Given the description of an element on the screen output the (x, y) to click on. 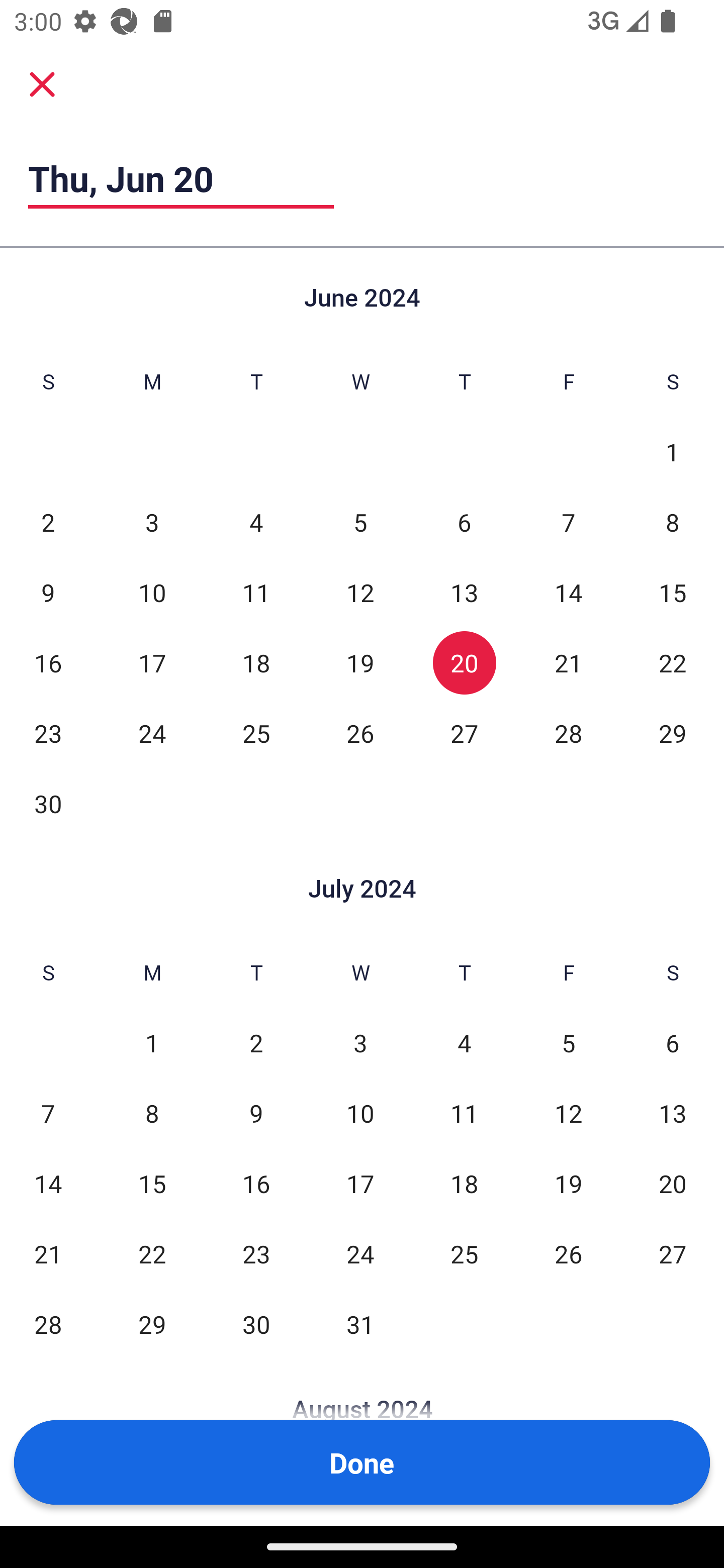
Cancel (41, 83)
Thu, Jun 20 (180, 178)
1 Sat, Jun 1, Not Selected (672, 452)
2 Sun, Jun 2, Not Selected (48, 521)
3 Mon, Jun 3, Not Selected (152, 521)
4 Tue, Jun 4, Not Selected (256, 521)
5 Wed, Jun 5, Not Selected (360, 521)
6 Thu, Jun 6, Not Selected (464, 521)
7 Fri, Jun 7, Not Selected (568, 521)
8 Sat, Jun 8, Not Selected (672, 521)
9 Sun, Jun 9, Not Selected (48, 591)
10 Mon, Jun 10, Not Selected (152, 591)
11 Tue, Jun 11, Not Selected (256, 591)
12 Wed, Jun 12, Not Selected (360, 591)
13 Thu, Jun 13, Not Selected (464, 591)
14 Fri, Jun 14, Not Selected (568, 591)
15 Sat, Jun 15, Not Selected (672, 591)
16 Sun, Jun 16, Not Selected (48, 662)
17 Mon, Jun 17, Not Selected (152, 662)
18 Tue, Jun 18, Not Selected (256, 662)
19 Wed, Jun 19, Not Selected (360, 662)
20 Thu, Jun 20, Selected (464, 662)
21 Fri, Jun 21, Not Selected (568, 662)
22 Sat, Jun 22, Not Selected (672, 662)
23 Sun, Jun 23, Not Selected (48, 732)
24 Mon, Jun 24, Not Selected (152, 732)
25 Tue, Jun 25, Not Selected (256, 732)
26 Wed, Jun 26, Not Selected (360, 732)
27 Thu, Jun 27, Not Selected (464, 732)
28 Fri, Jun 28, Not Selected (568, 732)
29 Sat, Jun 29, Not Selected (672, 732)
30 Sun, Jun 30, Not Selected (48, 803)
1 Mon, Jul 1, Not Selected (152, 1043)
2 Tue, Jul 2, Not Selected (256, 1043)
3 Wed, Jul 3, Not Selected (360, 1043)
4 Thu, Jul 4, Not Selected (464, 1043)
5 Fri, Jul 5, Not Selected (568, 1043)
6 Sat, Jul 6, Not Selected (672, 1043)
7 Sun, Jul 7, Not Selected (48, 1112)
8 Mon, Jul 8, Not Selected (152, 1112)
9 Tue, Jul 9, Not Selected (256, 1112)
10 Wed, Jul 10, Not Selected (360, 1112)
11 Thu, Jul 11, Not Selected (464, 1112)
12 Fri, Jul 12, Not Selected (568, 1112)
13 Sat, Jul 13, Not Selected (672, 1112)
14 Sun, Jul 14, Not Selected (48, 1182)
15 Mon, Jul 15, Not Selected (152, 1182)
16 Tue, Jul 16, Not Selected (256, 1182)
17 Wed, Jul 17, Not Selected (360, 1182)
18 Thu, Jul 18, Not Selected (464, 1182)
19 Fri, Jul 19, Not Selected (568, 1182)
20 Sat, Jul 20, Not Selected (672, 1182)
21 Sun, Jul 21, Not Selected (48, 1253)
22 Mon, Jul 22, Not Selected (152, 1253)
23 Tue, Jul 23, Not Selected (256, 1253)
24 Wed, Jul 24, Not Selected (360, 1253)
25 Thu, Jul 25, Not Selected (464, 1253)
26 Fri, Jul 26, Not Selected (568, 1253)
27 Sat, Jul 27, Not Selected (672, 1253)
28 Sun, Jul 28, Not Selected (48, 1323)
29 Mon, Jul 29, Not Selected (152, 1323)
30 Tue, Jul 30, Not Selected (256, 1323)
31 Wed, Jul 31, Not Selected (360, 1323)
Done Button Done (361, 1462)
